Given the description of an element on the screen output the (x, y) to click on. 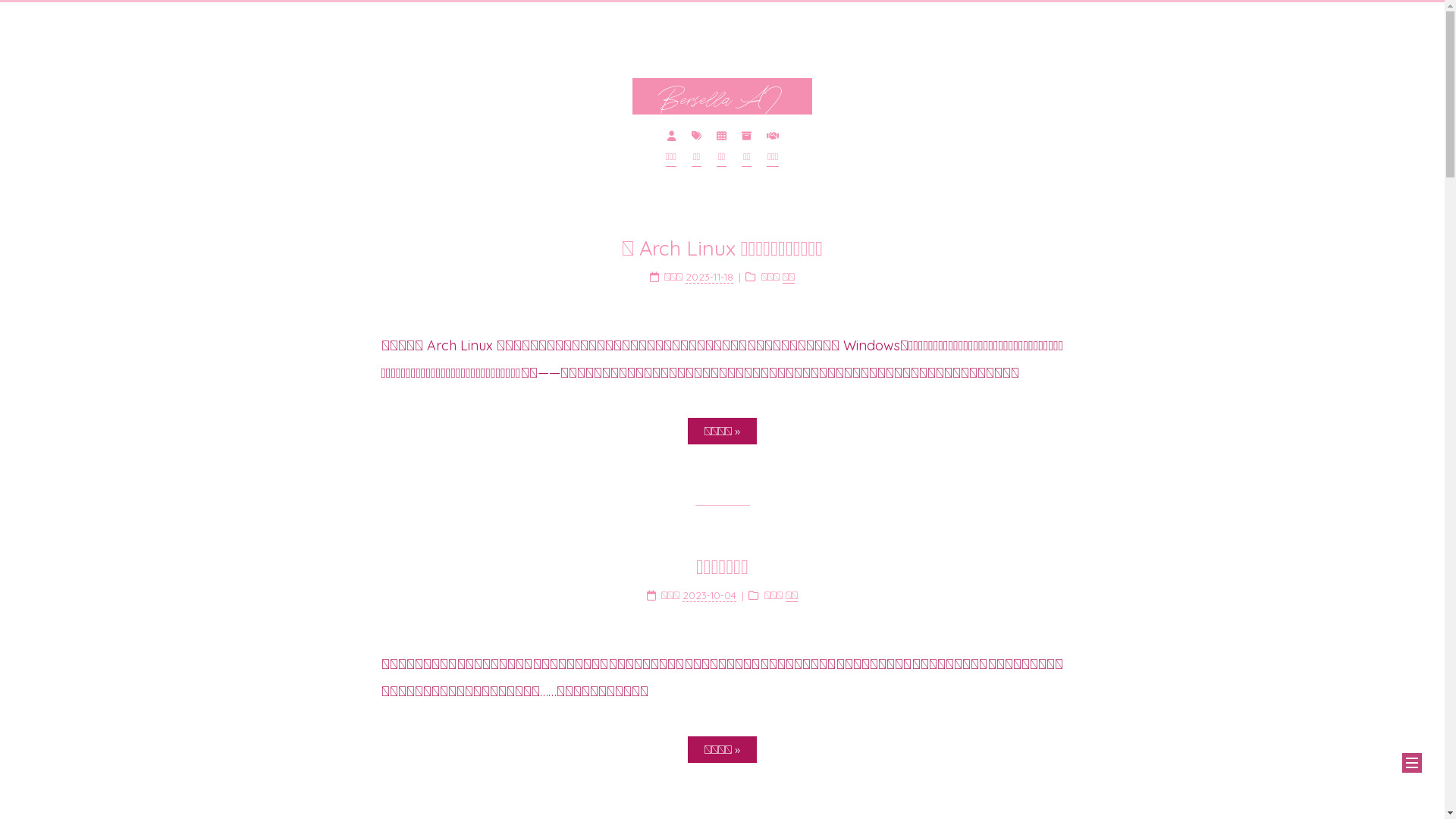
Bersella AI Element type: text (722, 96)
